Given the description of an element on the screen output the (x, y) to click on. 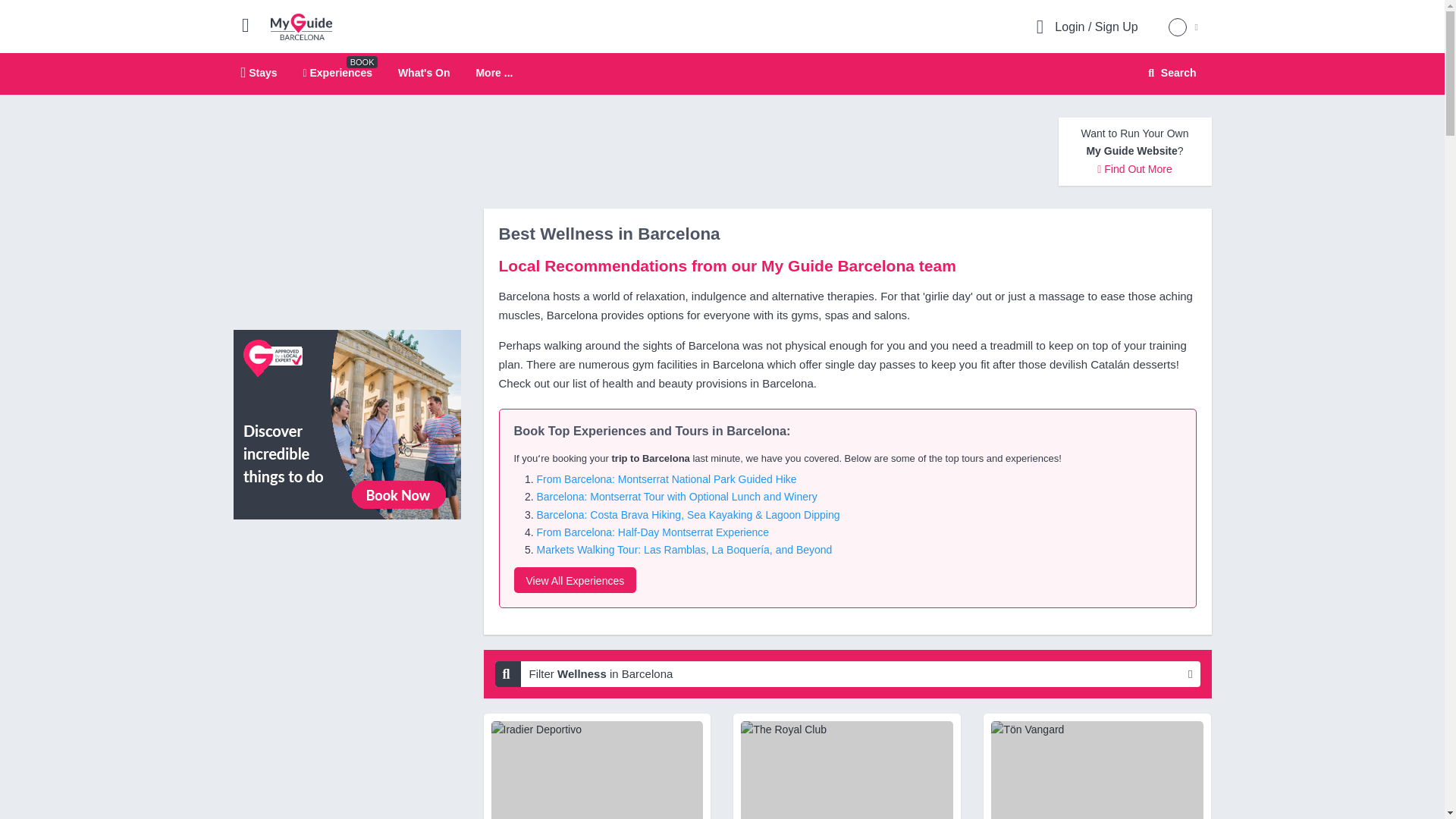
Experiences (337, 72)
View All Experiences (721, 74)
More ... (346, 423)
Search (494, 72)
View All Experiences (1169, 72)
Stays (575, 579)
Search Website (259, 72)
My Guide Barcelona (1170, 73)
What's On (300, 25)
